Given the description of an element on the screen output the (x, y) to click on. 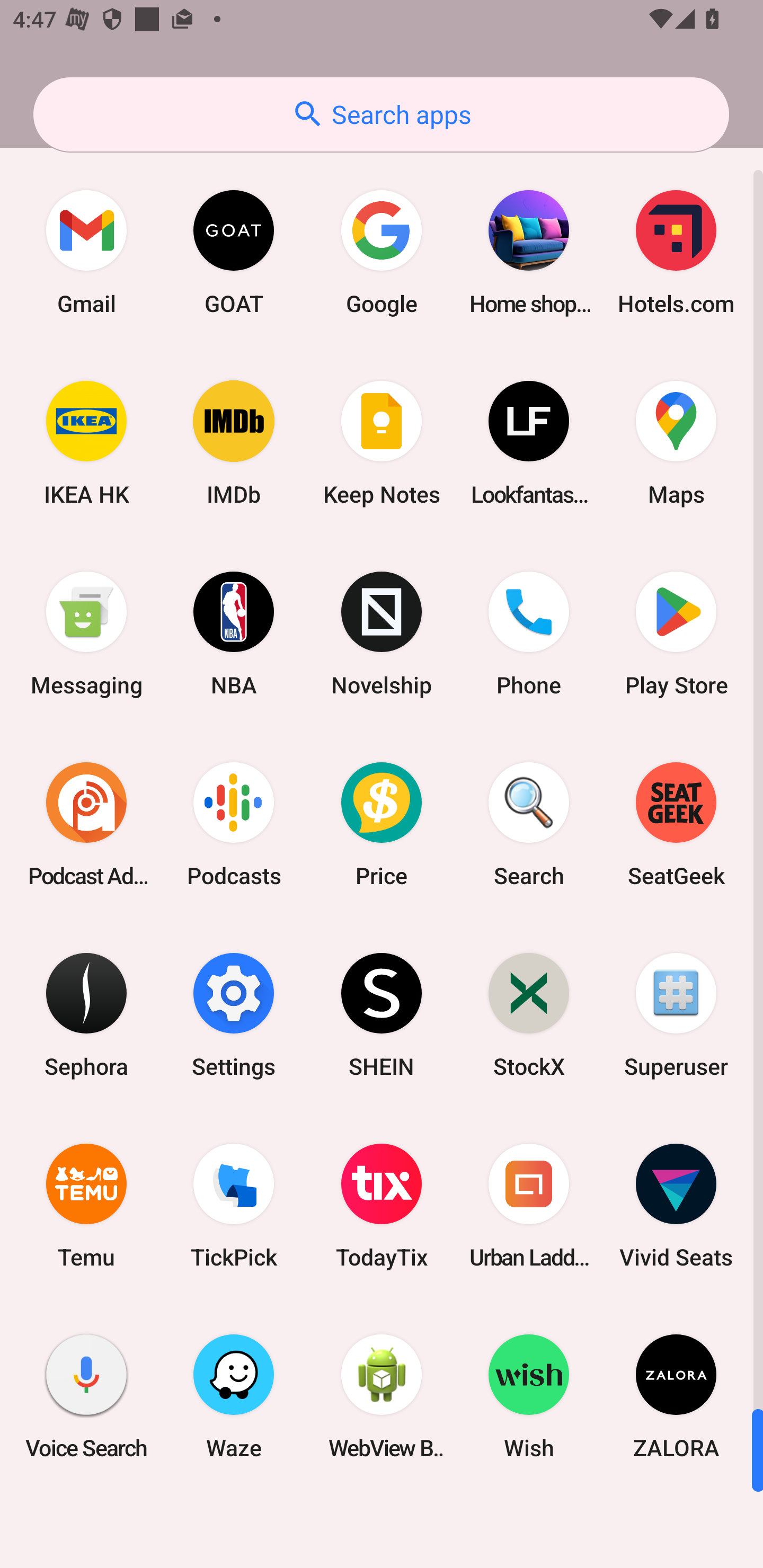
  Search apps (381, 114)
Gmail (86, 252)
GOAT (233, 252)
Google (381, 252)
Home shopping (528, 252)
Hotels.com (676, 252)
IKEA HK (86, 442)
IMDb (233, 442)
Keep Notes (381, 442)
Lookfantastic (528, 442)
Maps (676, 442)
Messaging (86, 633)
NBA (233, 633)
Novelship (381, 633)
Phone (528, 633)
Play Store (676, 633)
Podcast Addict (86, 823)
Podcasts (233, 823)
Price (381, 823)
Search (528, 823)
SeatGeek (676, 823)
Sephora (86, 1014)
Settings (233, 1014)
SHEIN (381, 1014)
StockX (528, 1014)
Superuser (676, 1014)
Temu (86, 1205)
TickPick (233, 1205)
TodayTix (381, 1205)
Urban Ladder (528, 1205)
Vivid Seats (676, 1205)
Voice Search (86, 1396)
Waze (233, 1396)
WebView Browser Tester (381, 1396)
Wish (528, 1396)
ZALORA (676, 1396)
